Given the description of an element on the screen output the (x, y) to click on. 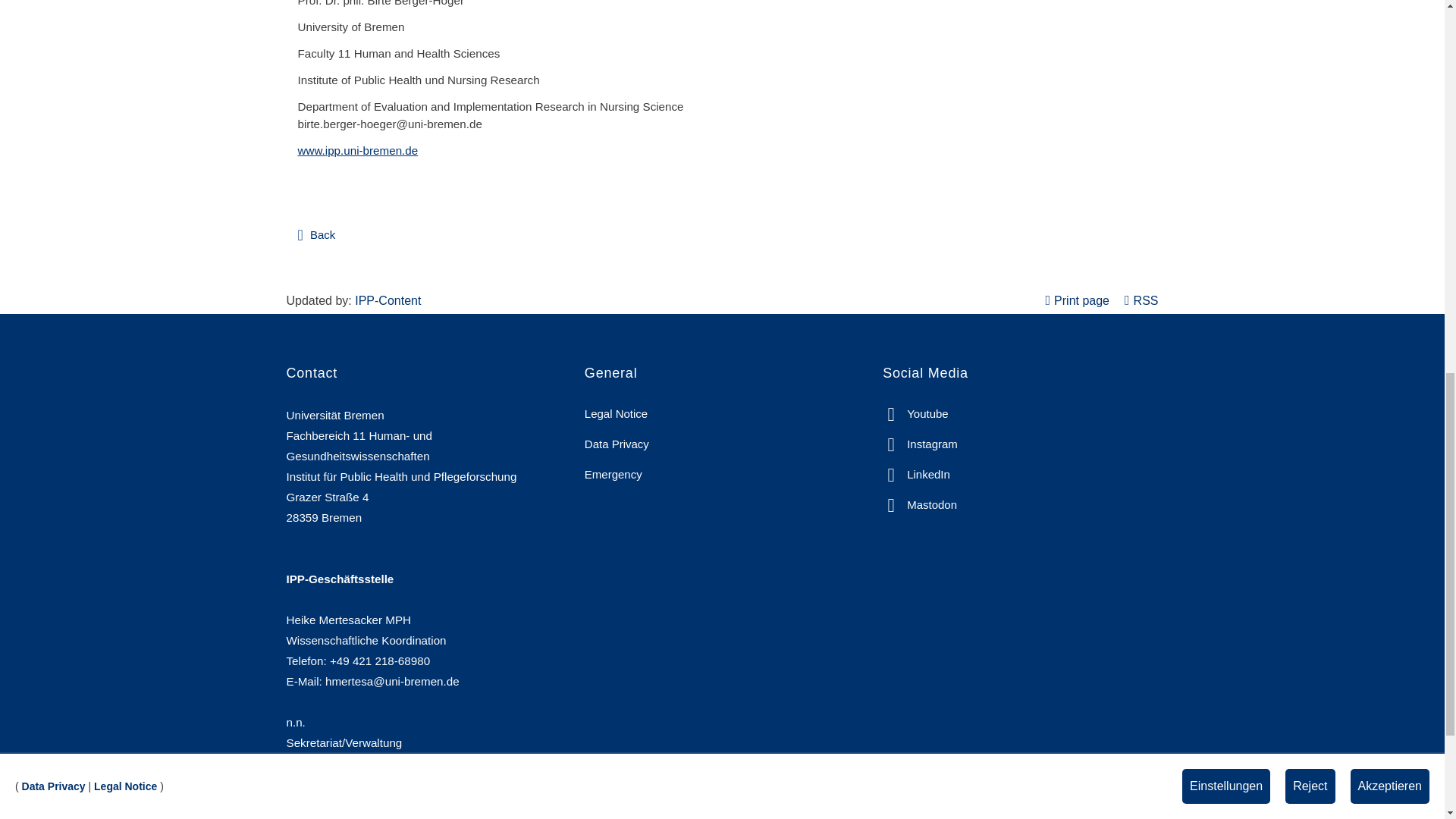
Open link to Instagram in a new window (920, 443)
Open link to Linked In in a new window (916, 473)
Seite als RSS Feed (1140, 300)
Open link to Mastodon in a new window (919, 504)
